Given the description of an element on the screen output the (x, y) to click on. 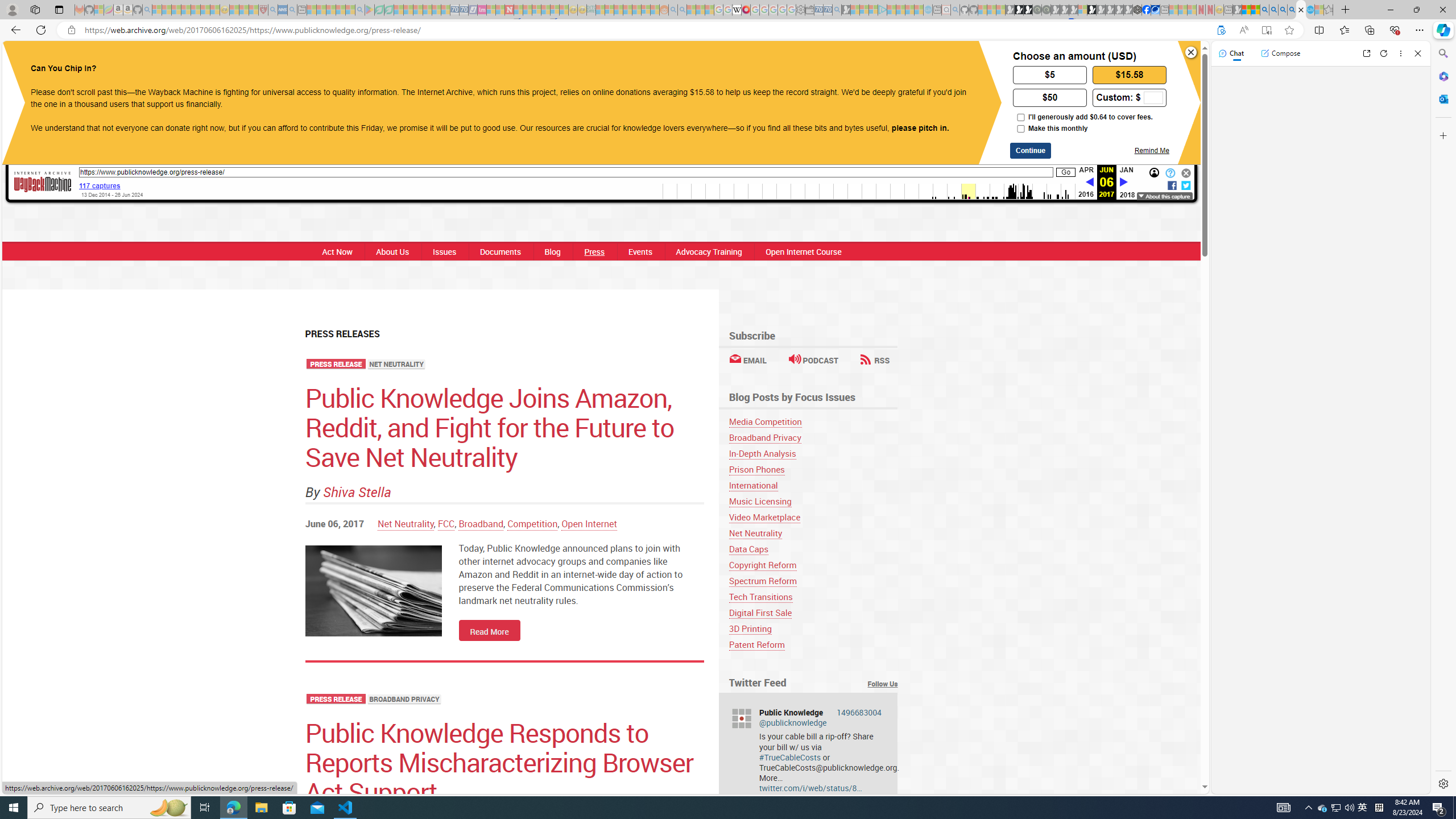
Broadband (480, 523)
BROADBAND PRIVACY (404, 698)
ACT NOW (783, 60)
In-Depth Analysis (762, 453)
AirNow.gov (1154, 9)
Press (594, 251)
Target page - Wikipedia (736, 9)
PRESS RELEASE (335, 698)
